Given the description of an element on the screen output the (x, y) to click on. 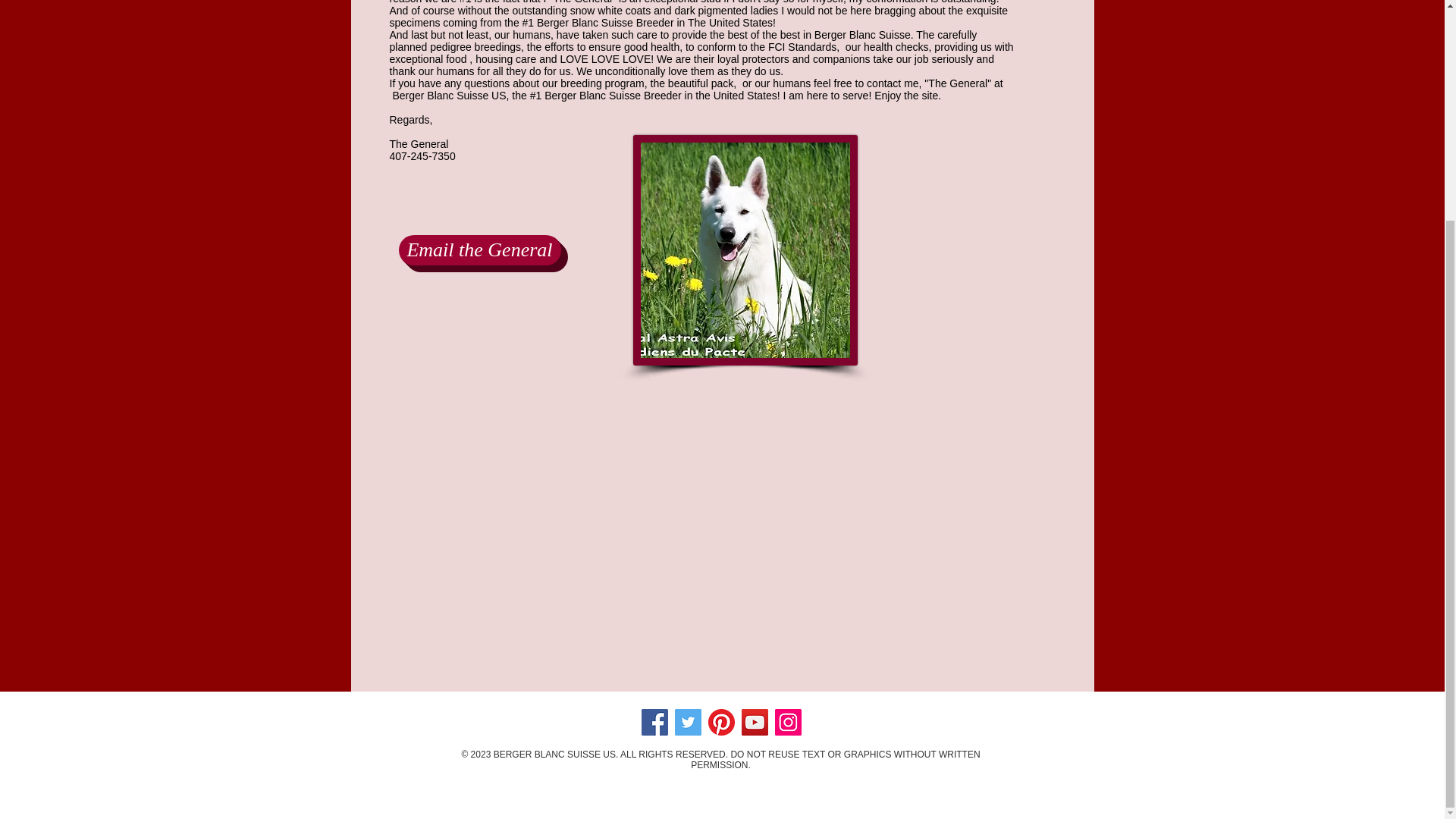
the general.jpg (744, 250)
BERGER BLANC SUISSE US (554, 754)
Email the General (479, 250)
